Given the description of an element on the screen output the (x, y) to click on. 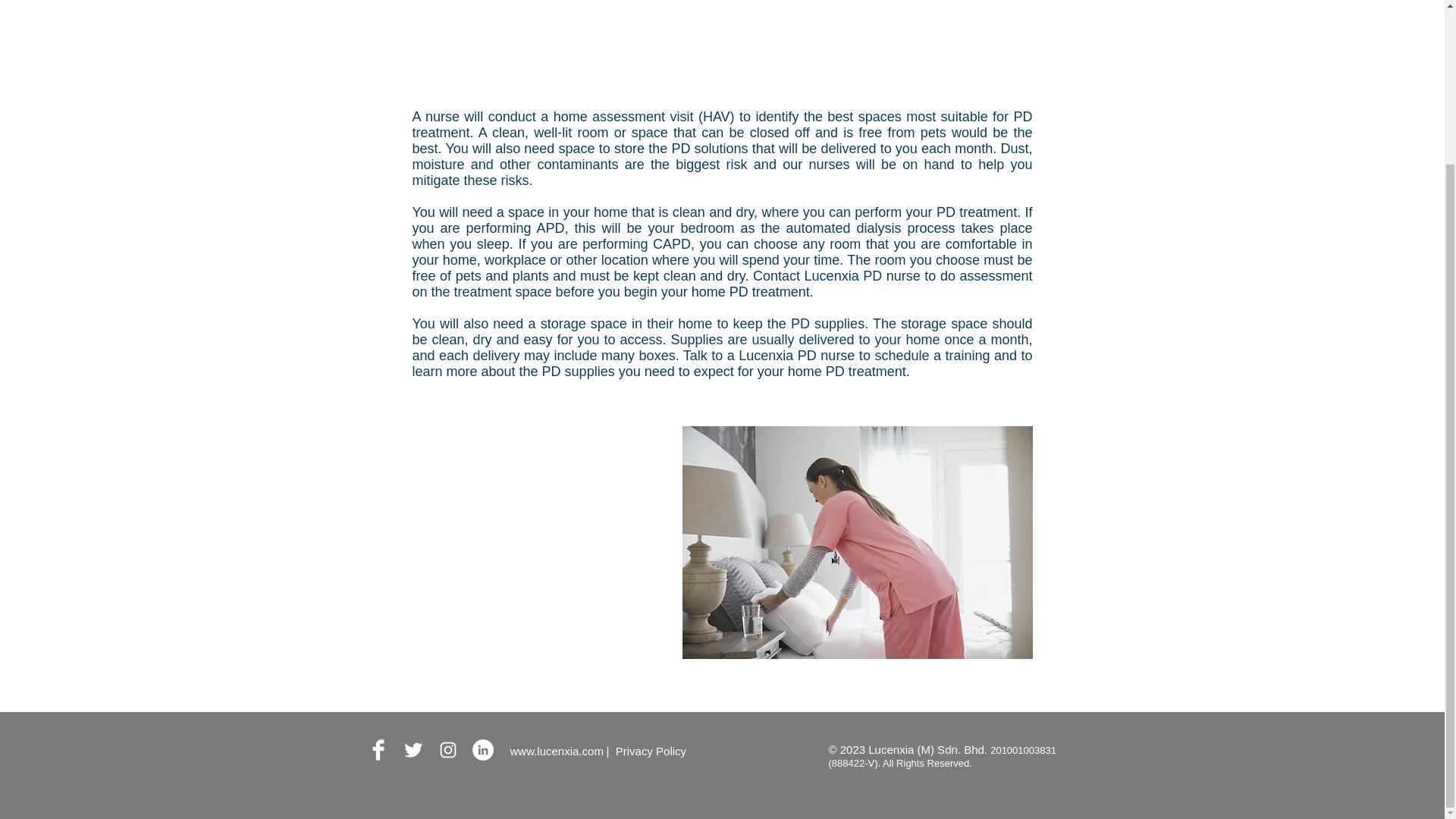
www.lucenxia.com (555, 750)
